Given the description of an element on the screen output the (x, y) to click on. 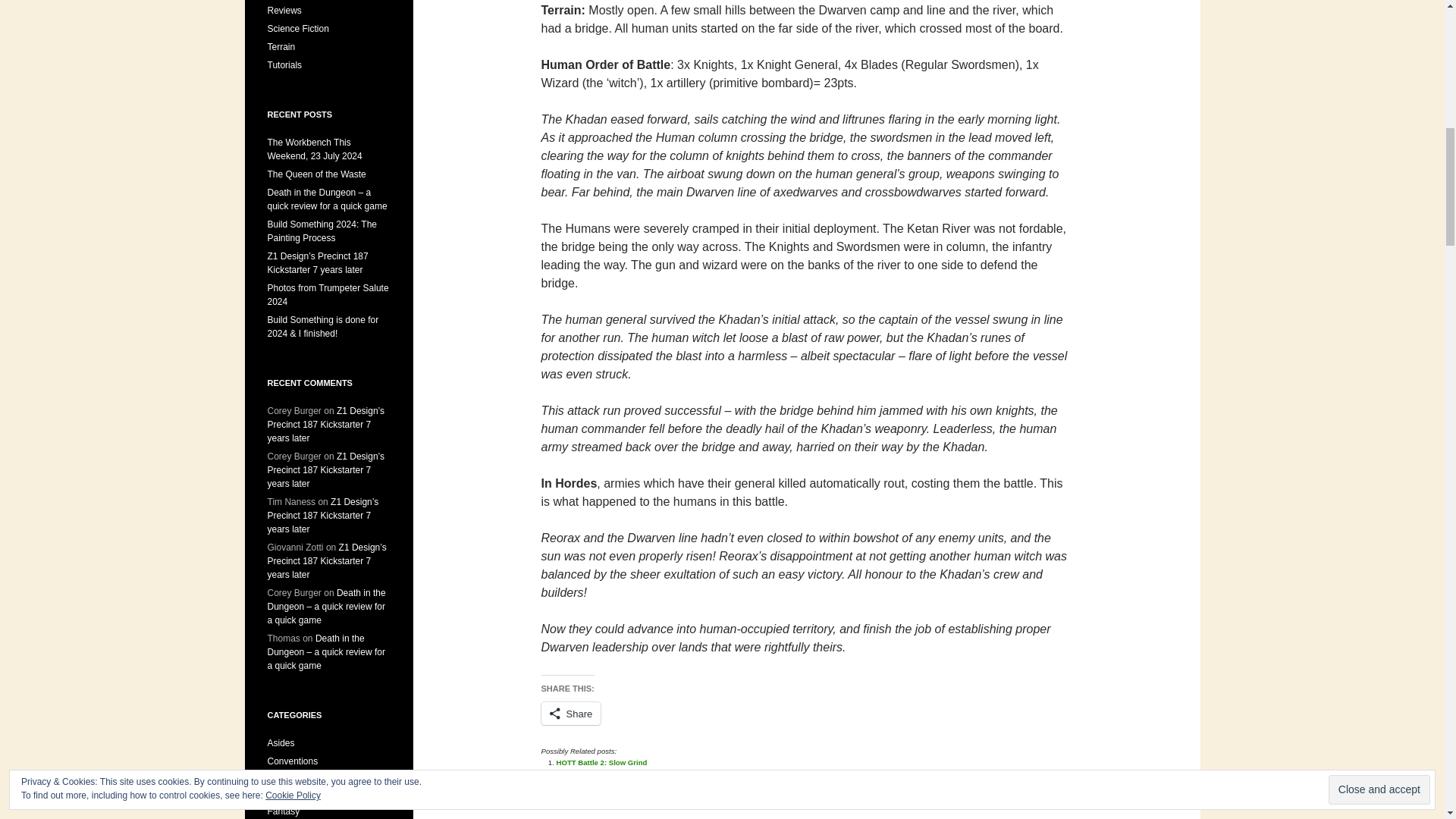
HOTT battle report from a friend (611, 783)
HOTT Battle 3: Kzah Robad (603, 773)
HOTT Battle 2: Slow Grind (601, 762)
HOTT Battle 2: Slow Grind (601, 762)
HOTT Battle 3: Kzah Robad (603, 773)
HOTT battle report from a friend (611, 783)
Share (571, 712)
